Given the description of an element on the screen output the (x, y) to click on. 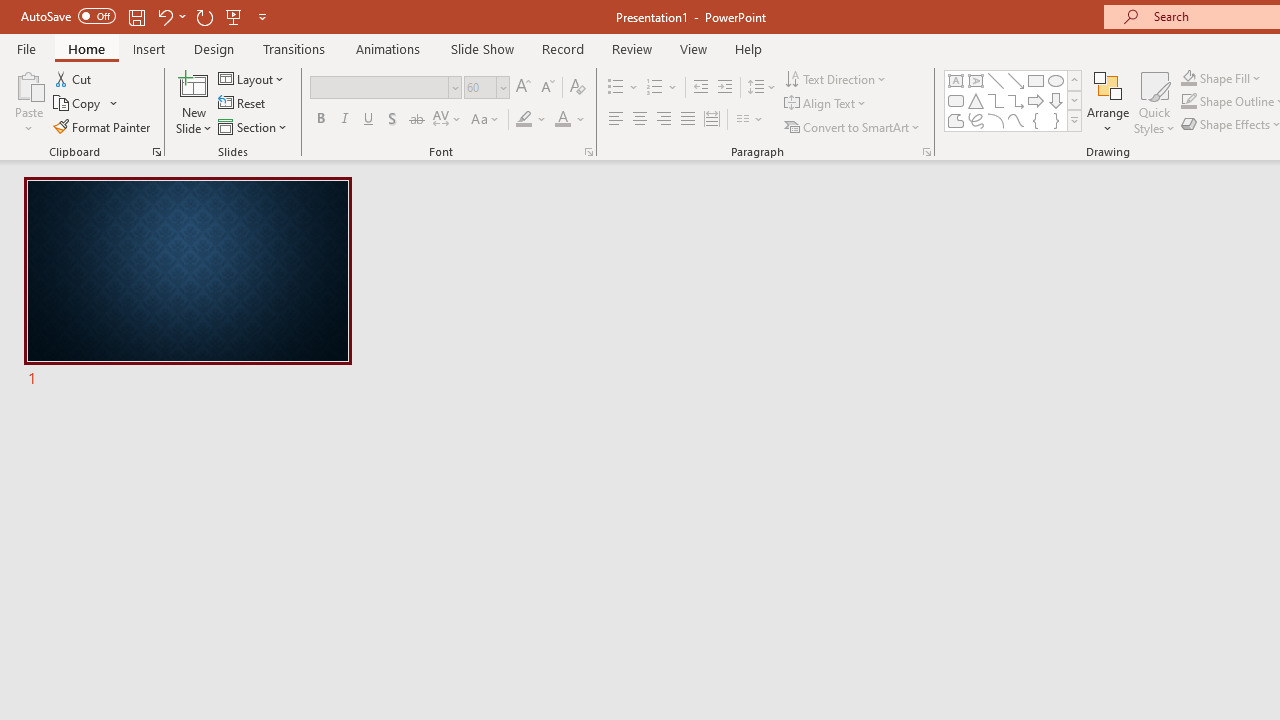
Align Right (663, 119)
Decrease Font Size (547, 87)
Right Brace (1055, 120)
Office Clipboard... (156, 151)
Decrease Indent (700, 87)
Arrow: Down (1055, 100)
